Given the description of an element on the screen output the (x, y) to click on. 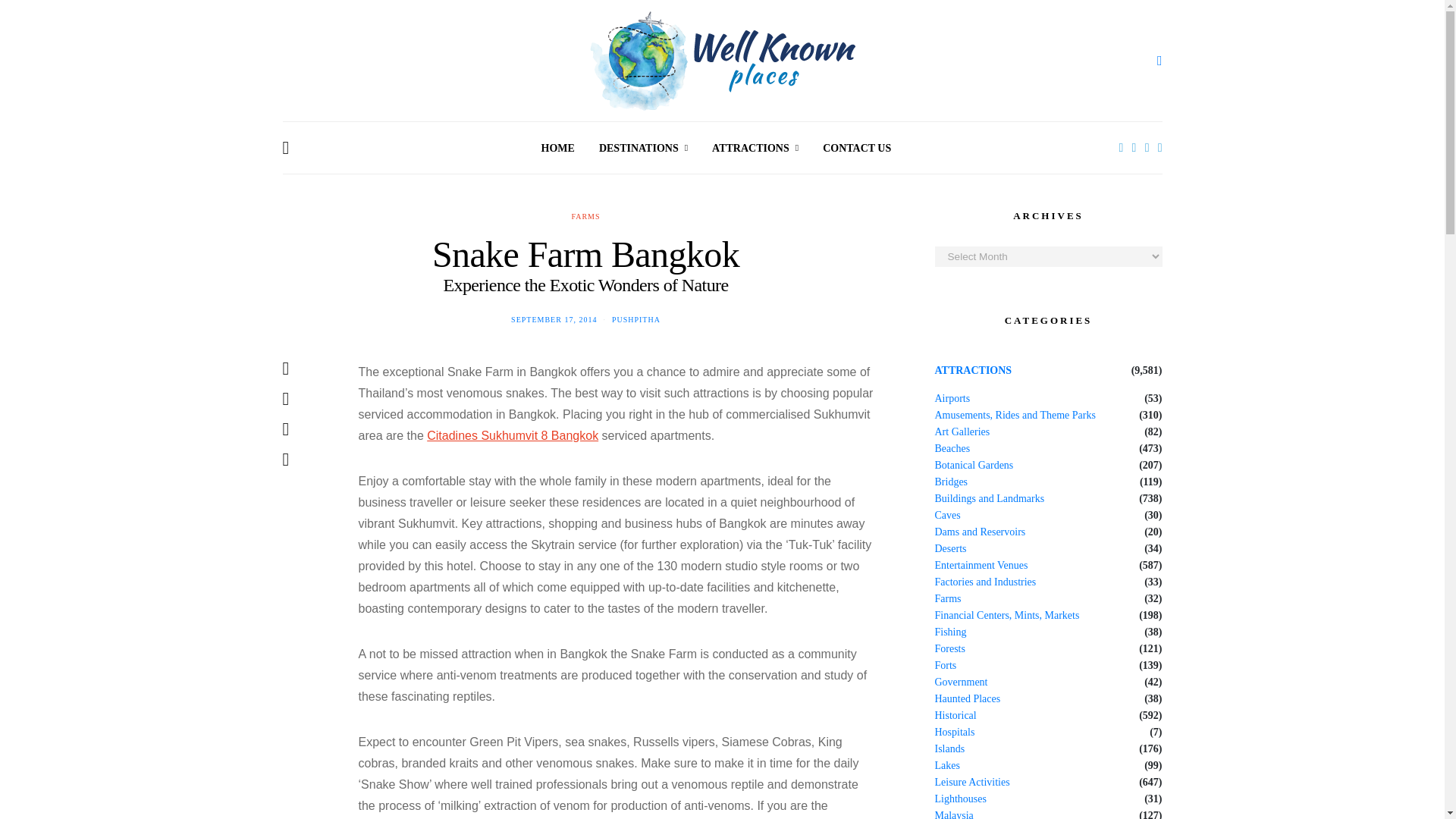
View all posts by Pushpitha (636, 319)
